Given the description of an element on the screen output the (x, y) to click on. 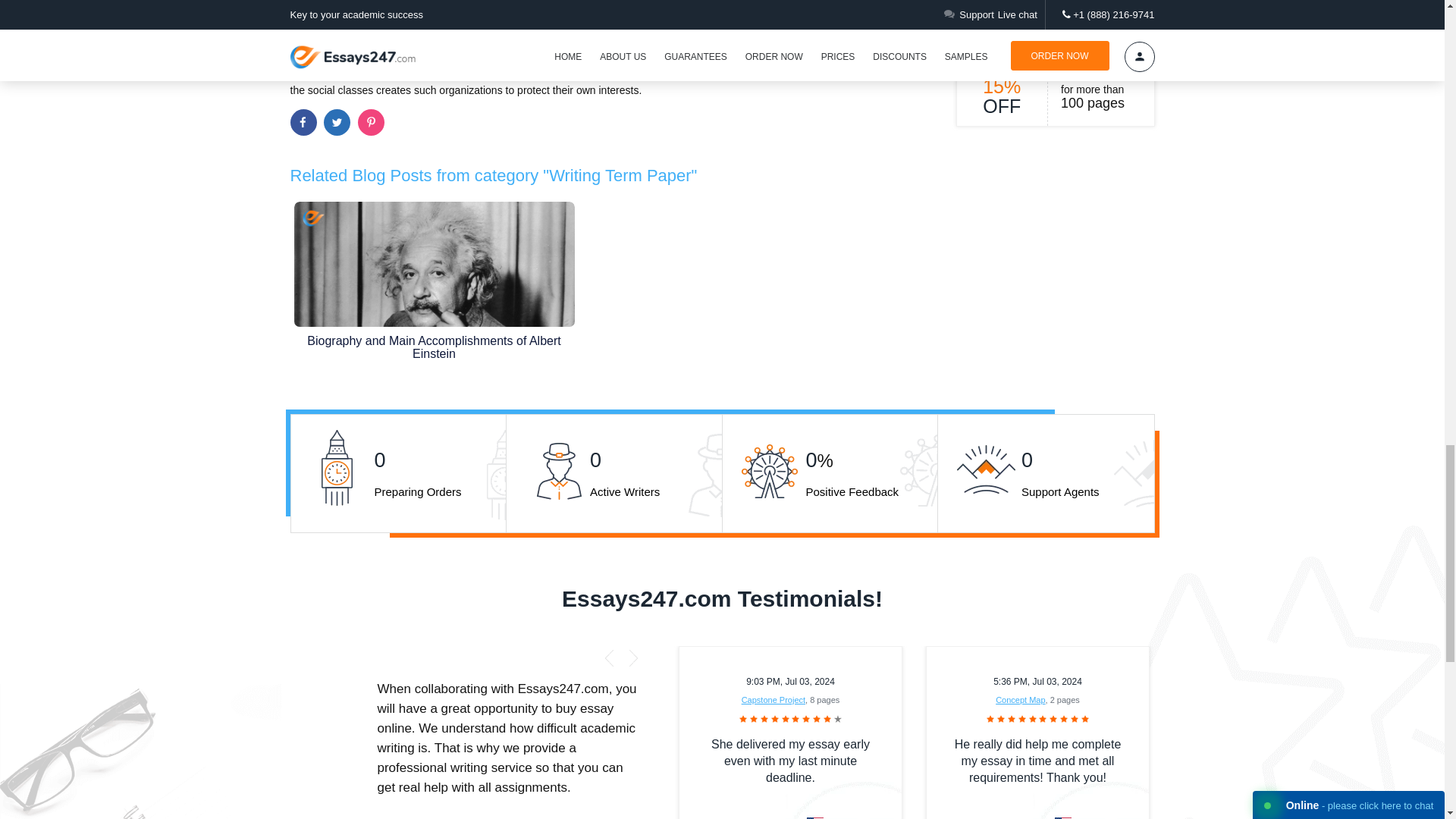
Share on Twitter (336, 121)
Share on Twitter (336, 122)
Biography and Main Accomplishments of Albert Einstein (434, 288)
Share on Pinterest (371, 121)
Share on Facebook (302, 121)
